Given the description of an element on the screen output the (x, y) to click on. 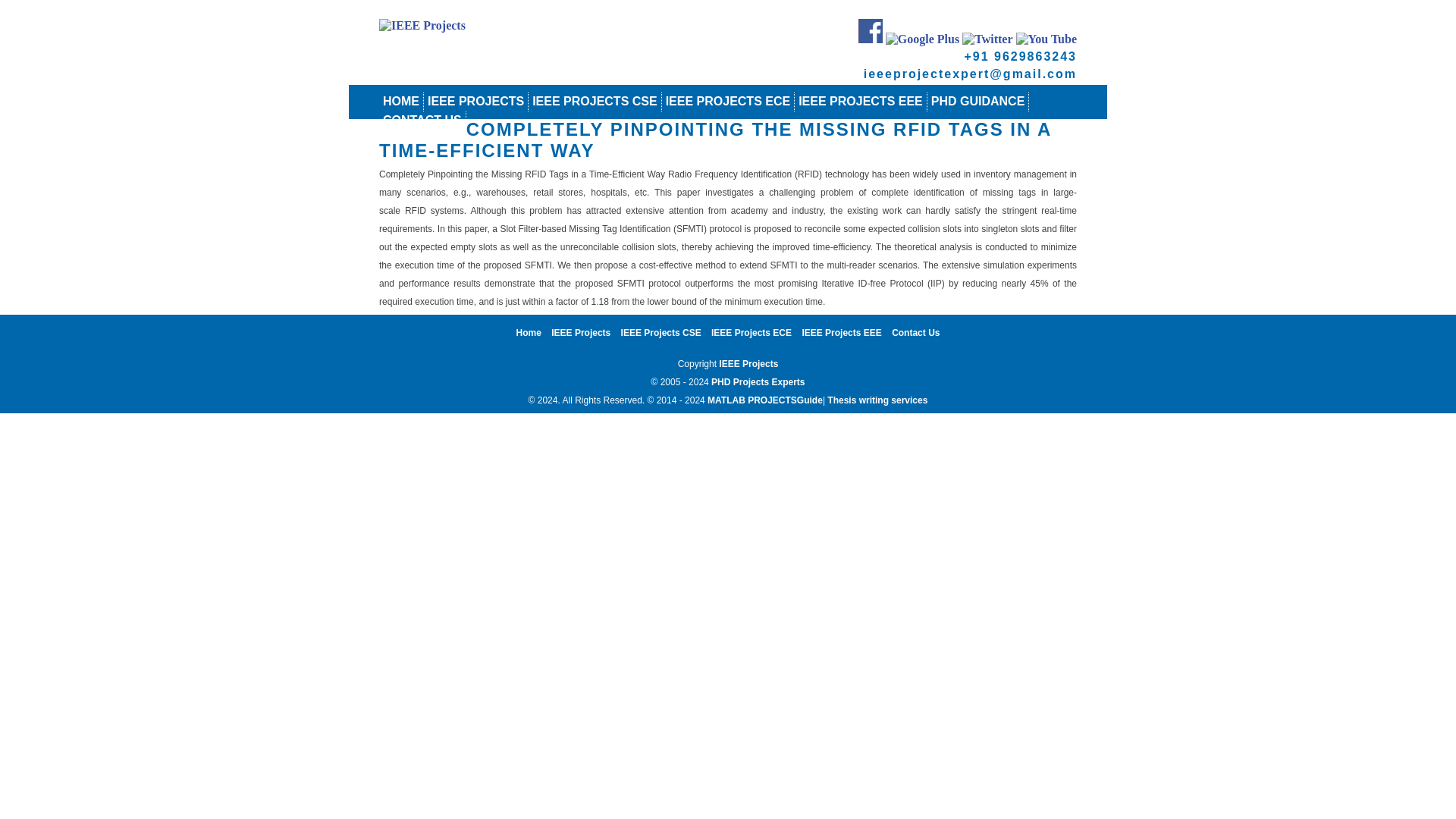
Home (528, 332)
CONTACT US (421, 119)
PHD GUIDANCE (978, 101)
IEEE PROJECTS ECE (727, 101)
HOME (400, 101)
IEEE PROJECTS (476, 101)
IEEE PROJECTS EEE (860, 101)
IEEE Projects CSE (661, 332)
IEEE PROJECTS CSE (595, 101)
IEEE Projects (580, 332)
IEEE Projects ECE (751, 332)
